Given the description of an element on the screen output the (x, y) to click on. 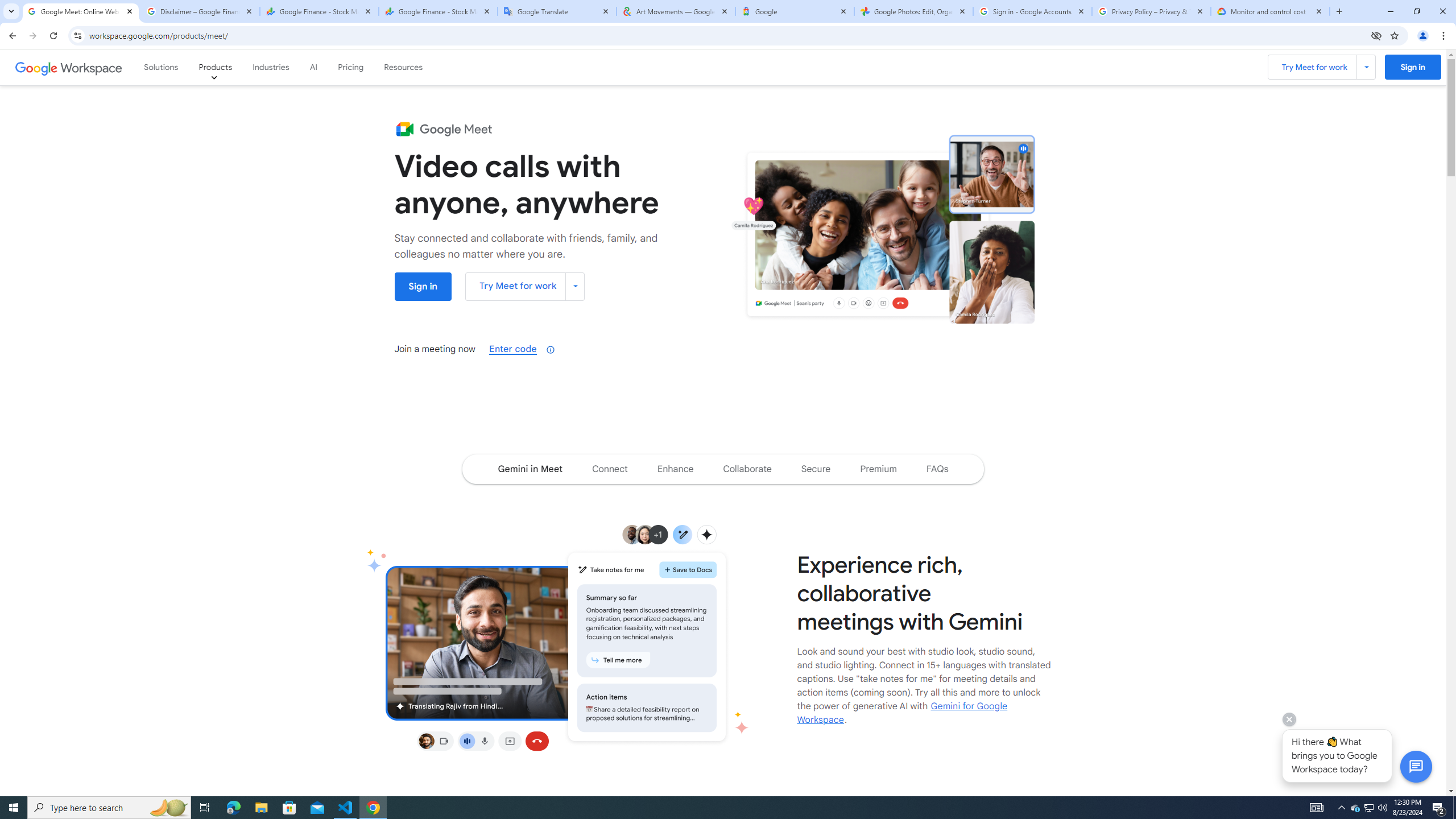
Jump to the enhance section of the page (675, 468)
Jump to the premium section of the page (878, 468)
Jump to the secure section of the page (815, 468)
Google Workspace (69, 67)
Google Meet Product Logo (443, 128)
Navigate to the Gemini in Meet section of the page (529, 468)
